Given the description of an element on the screen output the (x, y) to click on. 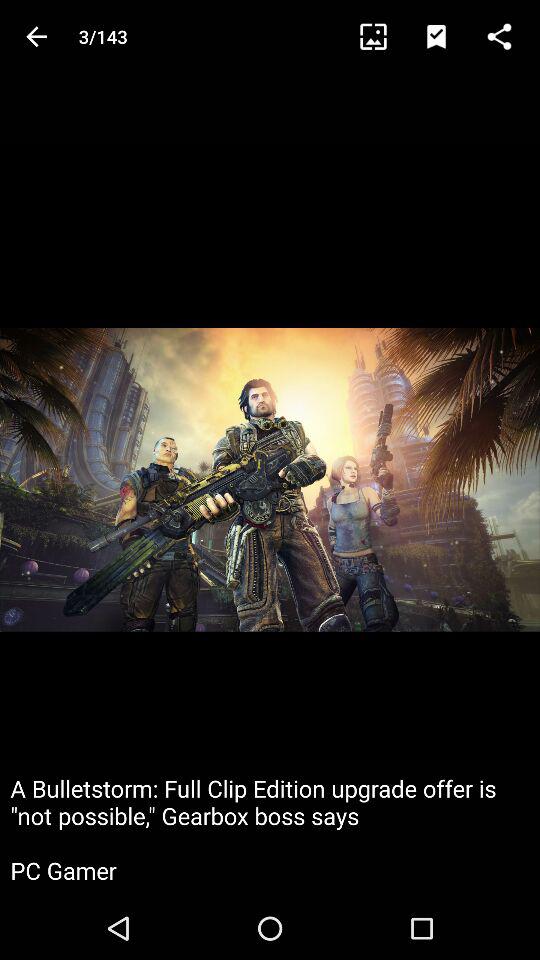
go back (36, 36)
